Given the description of an element on the screen output the (x, y) to click on. 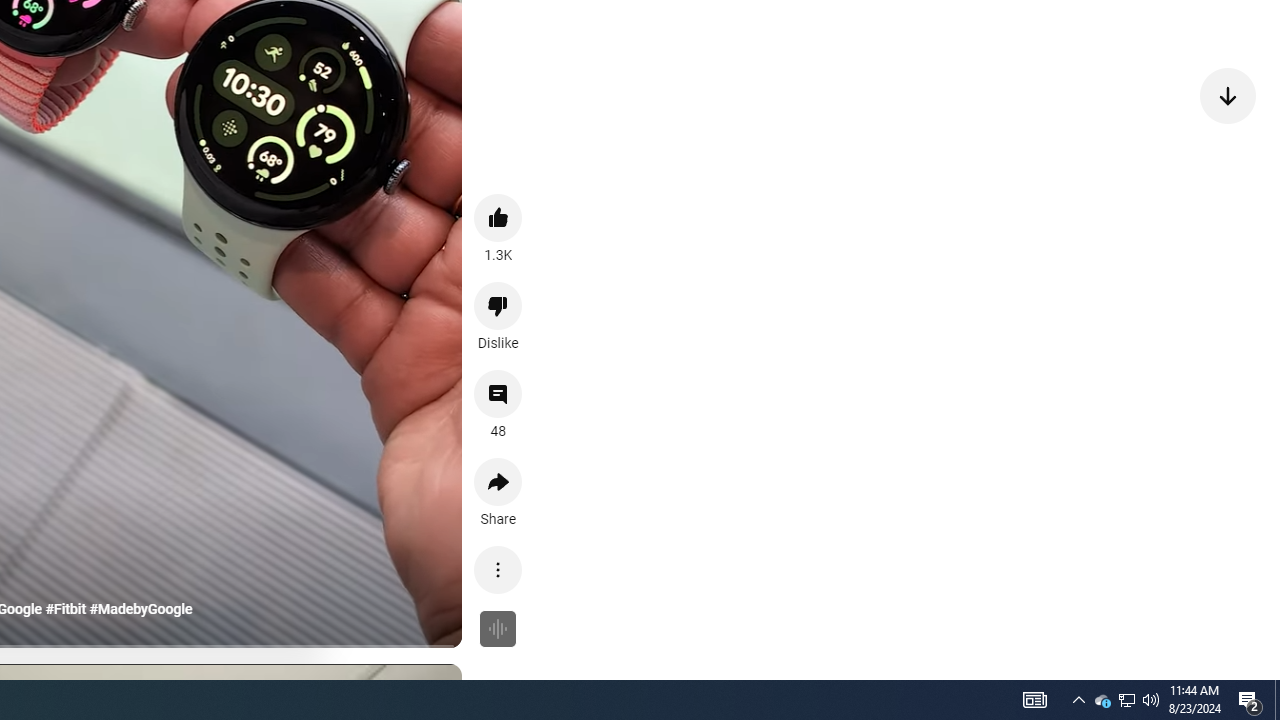
Feature not available for this video (498, 628)
View 48 comments (498, 394)
More actions (498, 569)
Share (498, 481)
like this video along with 1.3K other people (498, 217)
#Fitbit (65, 609)
#MadebyGoogle (141, 609)
Next video (1227, 94)
Dislike this video (498, 305)
